Given the description of an element on the screen output the (x, y) to click on. 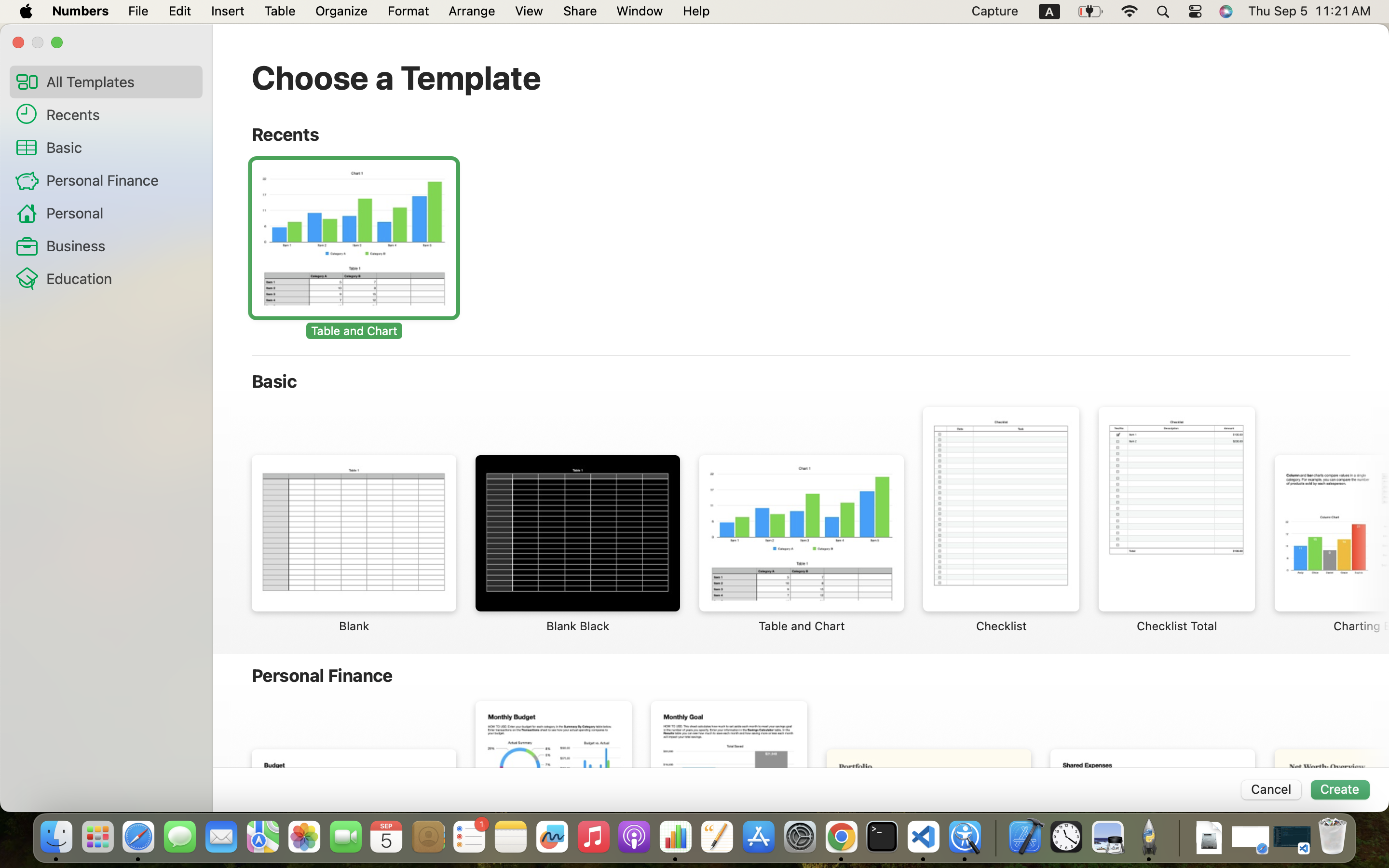
Recents Element type: AXStaticText (120, 114)
Basic Element type: AXStaticText (120, 146)
Choose a Template Element type: AXStaticText (396, 76)
All Templates Element type: AXStaticText (120, 81)
